Given the description of an element on the screen output the (x, y) to click on. 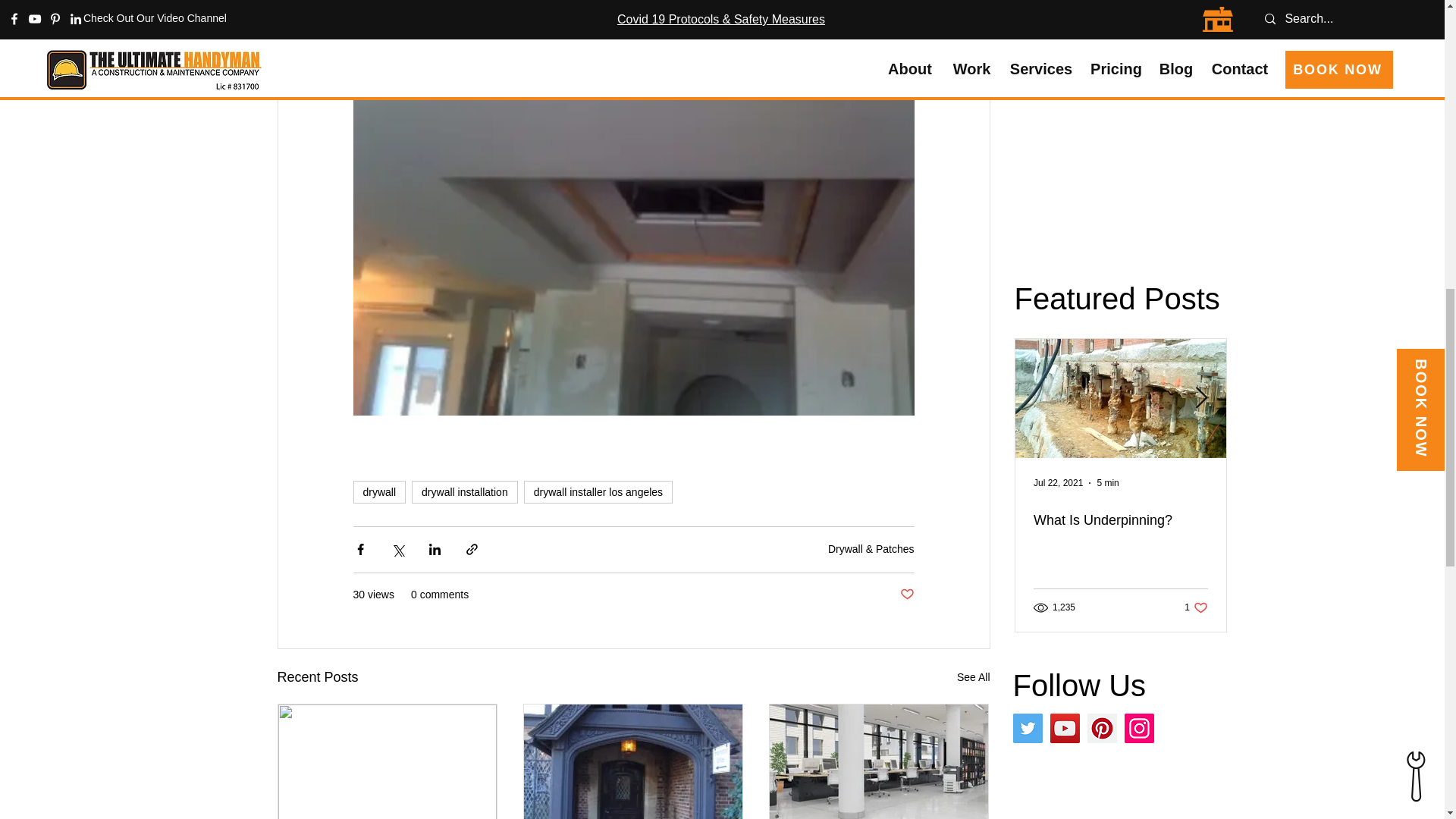
Jul 22, 2021 (1056, 482)
2 min (1324, 482)
May 14, 2021 (1270, 482)
5 min (1107, 482)
